Given the description of an element on the screen output the (x, y) to click on. 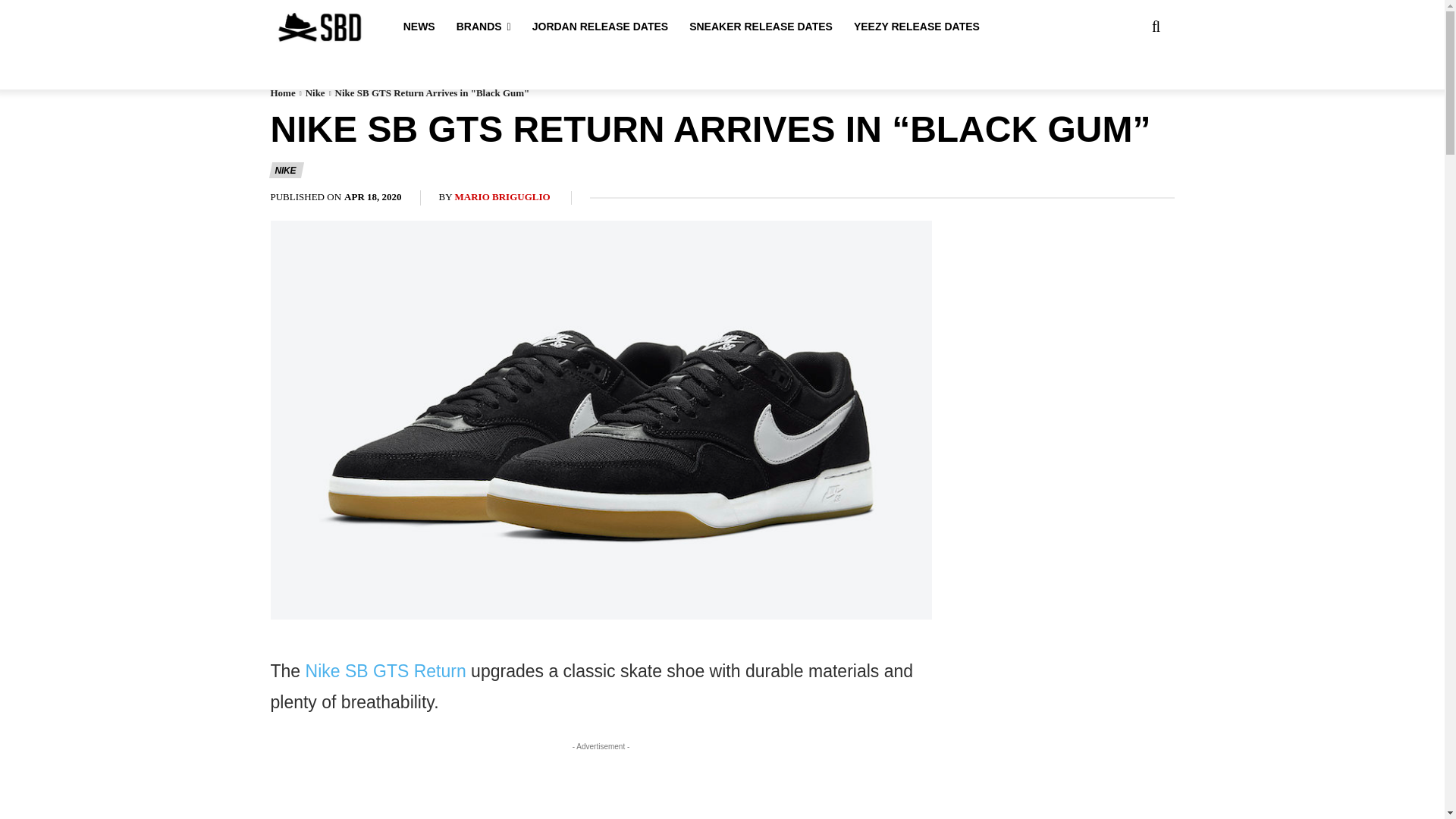
SNEAKER RELEASE DATES (760, 26)
View all posts in Nike (314, 92)
NEWS (419, 26)
Sneaker News and Release Dates (288, 26)
JORDAN RELEASE DATES (600, 26)
YEEZY RELEASE DATES (916, 26)
Sneaker News and Release Dates (318, 26)
BRANDS (484, 26)
